Given the description of an element on the screen output the (x, y) to click on. 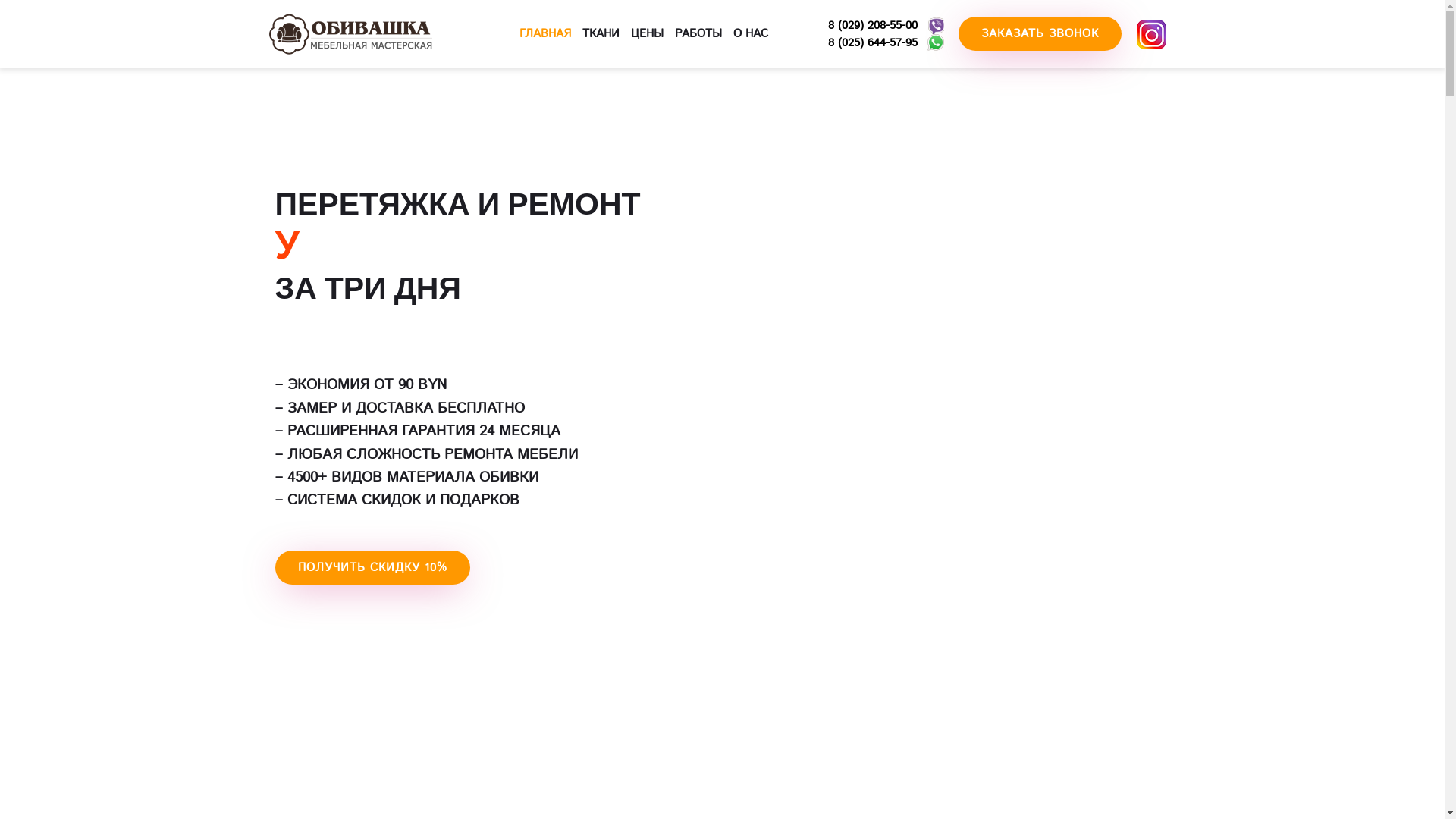
8 (029) 208-55-00 Element type: text (872, 25)
8 (025) 644-57-95 Element type: text (872, 42)
